Given the description of an element on the screen output the (x, y) to click on. 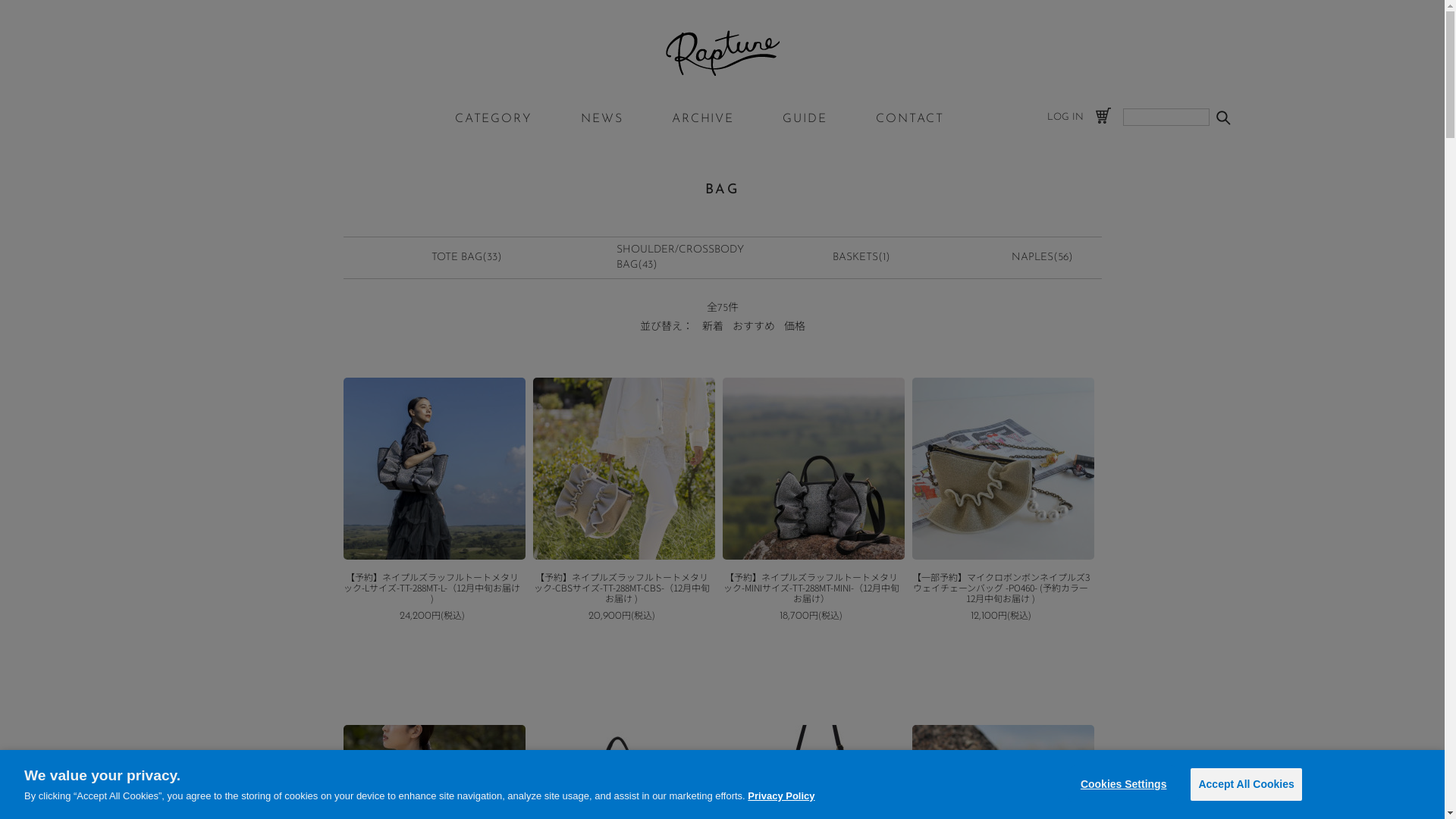
TOTE BAG(33) Element type: text (466, 257)
LOG IN Element type: text (1064, 117)
CATEGORY Element type: text (493, 118)
CONTACT Element type: text (909, 118)
BASKETS(1) Element type: text (861, 257)
NEWS Element type: text (601, 118)
SHOULDER/CROSSBODY BAG(43) Element type: text (679, 257)
ARCHIVE Element type: text (702, 118)
NAPLES(56) Element type: text (1042, 257)
GUIDE Element type: text (804, 118)
